Given the description of an element on the screen output the (x, y) to click on. 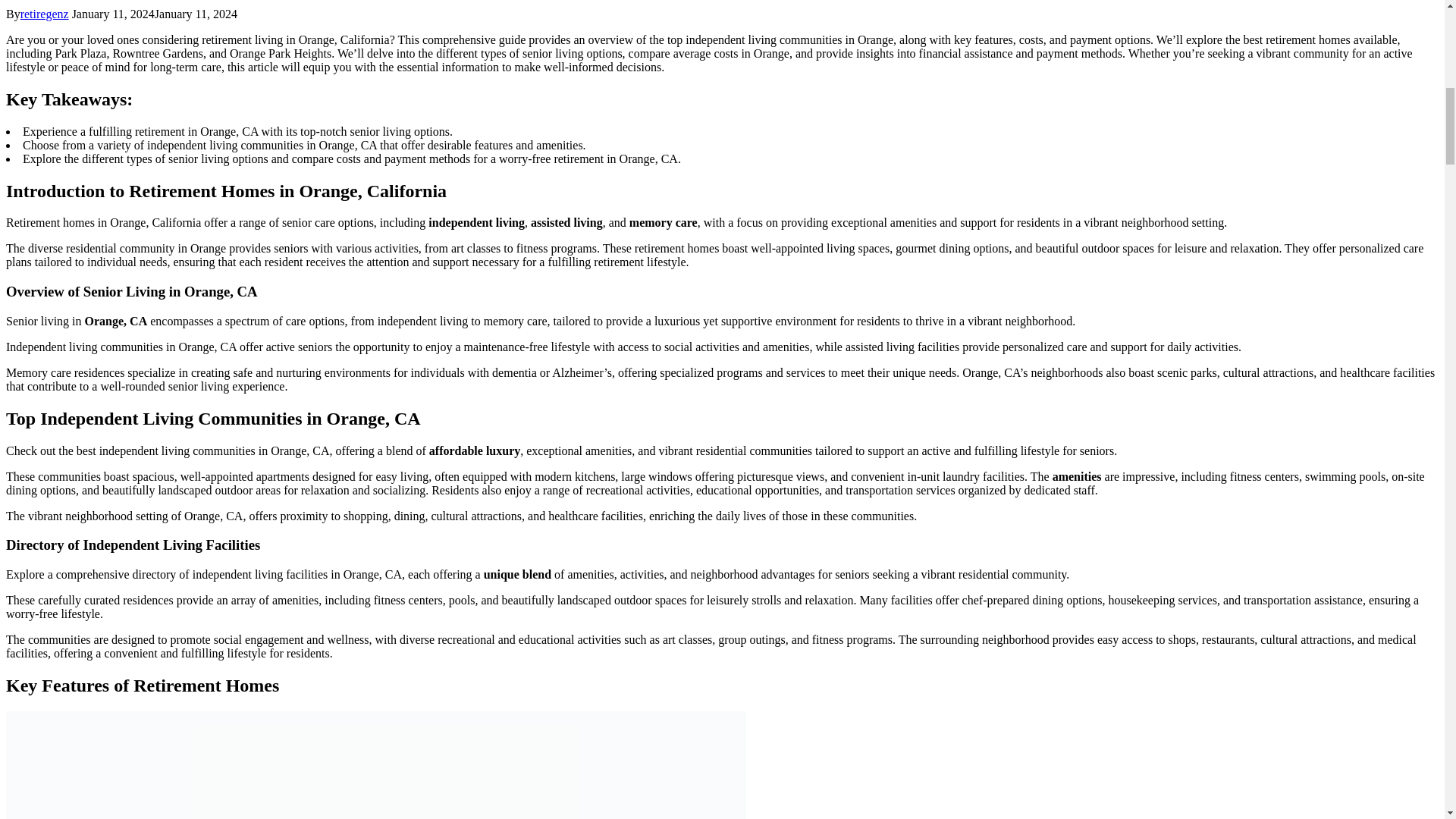
retiregenz (44, 13)
